Given the description of an element on the screen output the (x, y) to click on. 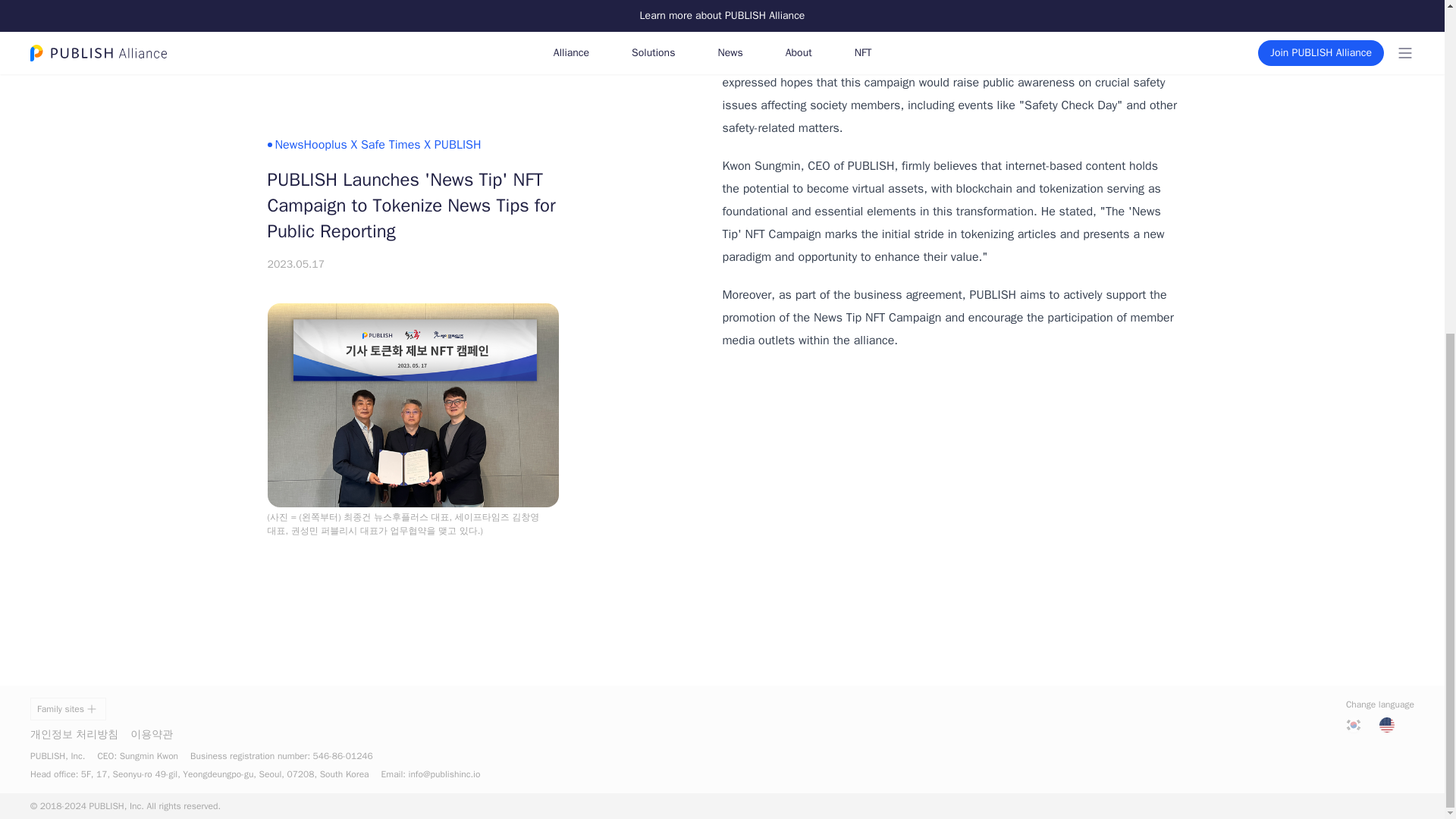
en (1386, 724)
Family sites (68, 708)
English (1386, 724)
ko (1353, 724)
